Given the description of an element on the screen output the (x, y) to click on. 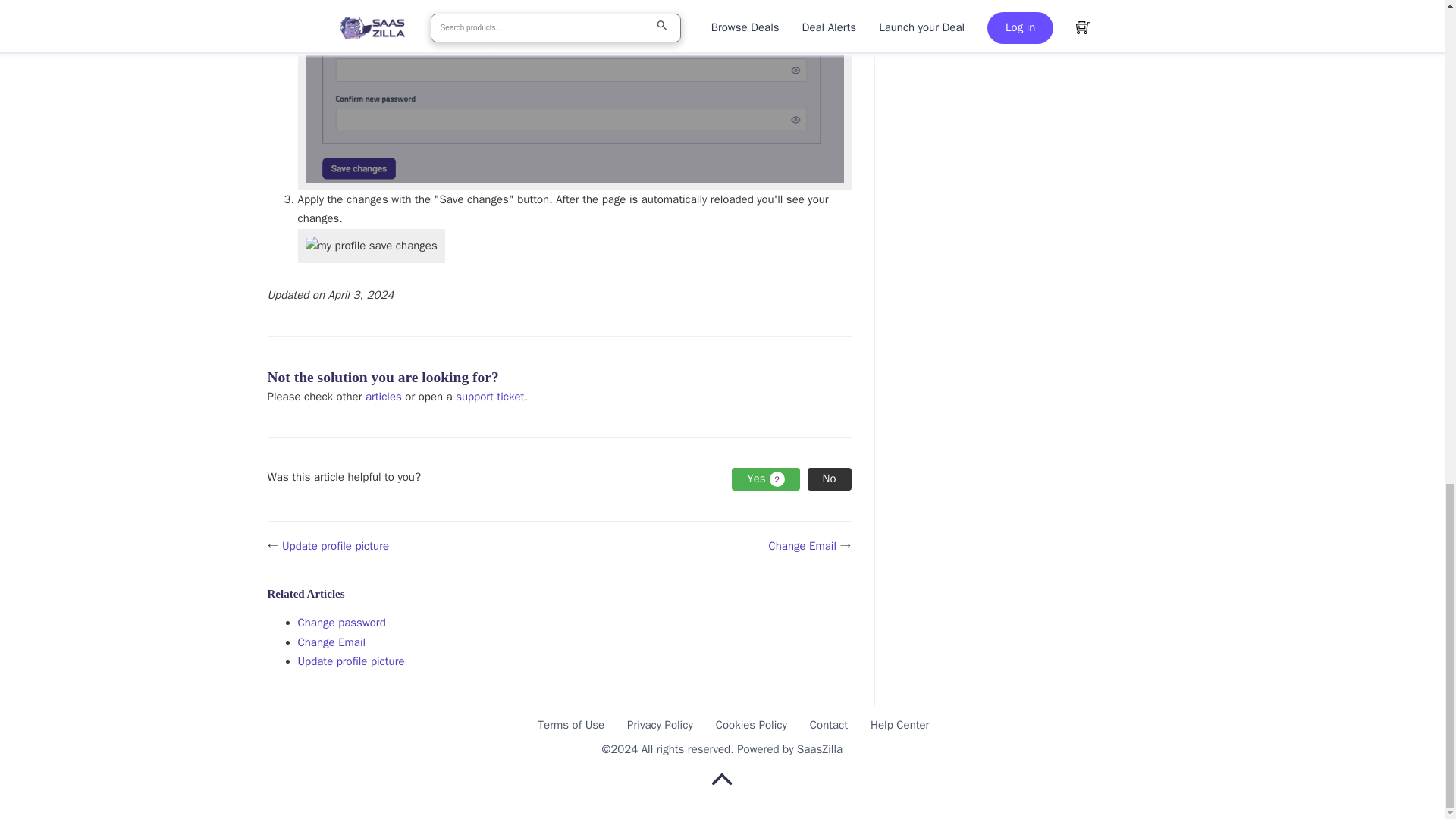
Change Email (331, 642)
No (829, 478)
articles (383, 396)
Change Email (801, 545)
Update profile picture (350, 661)
0 persons found this not useful (829, 478)
Change password (341, 622)
Update profile picture (335, 545)
support ticket (489, 396)
2 persons found this useful (765, 478)
